Given the description of an element on the screen output the (x, y) to click on. 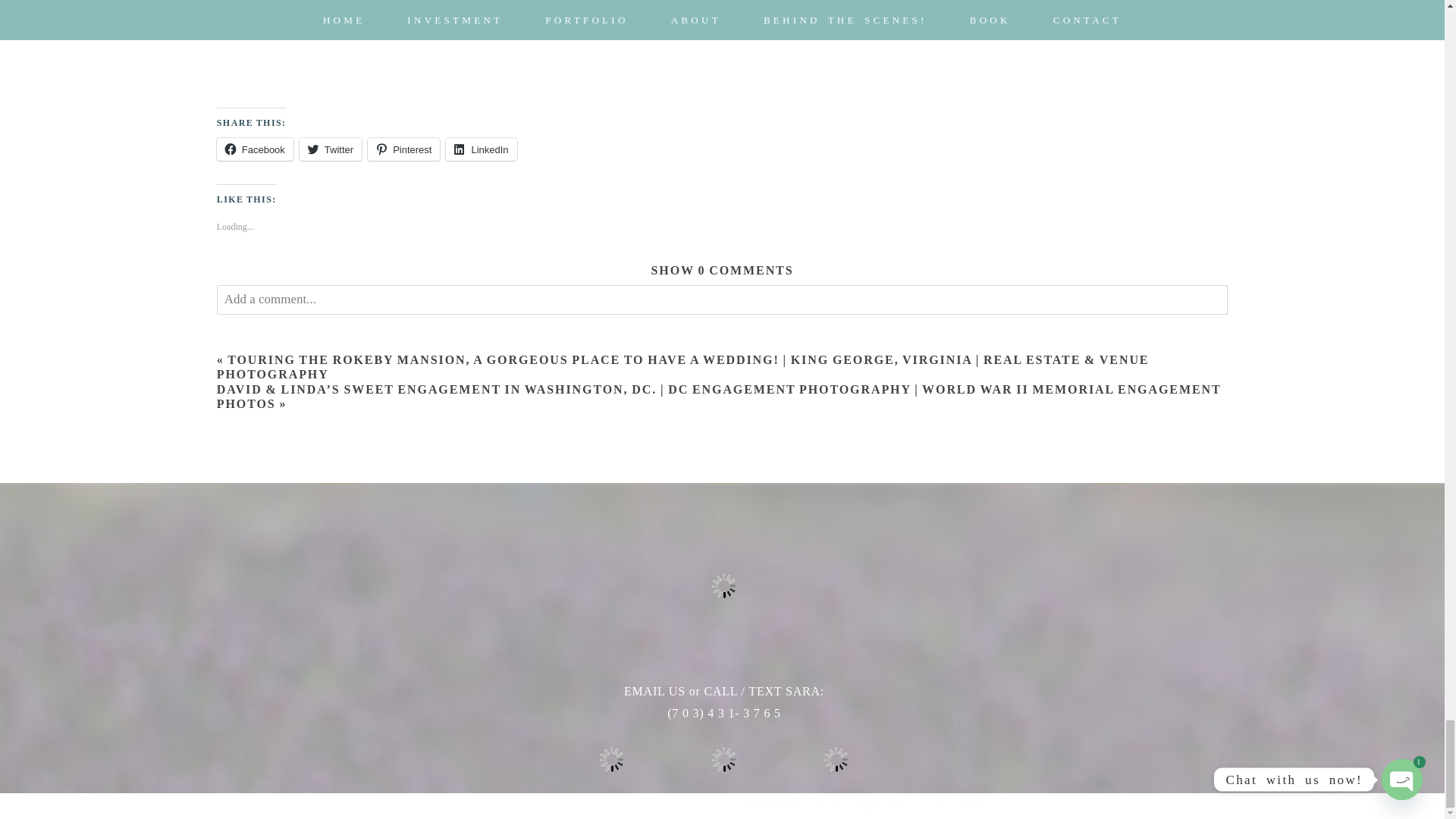
Click to share on Facebook (255, 149)
Click to share on Pinterest (403, 149)
Click to share on LinkedIn (480, 149)
Click to share on Twitter (330, 149)
ProPhoto 7 (827, 806)
